Given the description of an element on the screen output the (x, y) to click on. 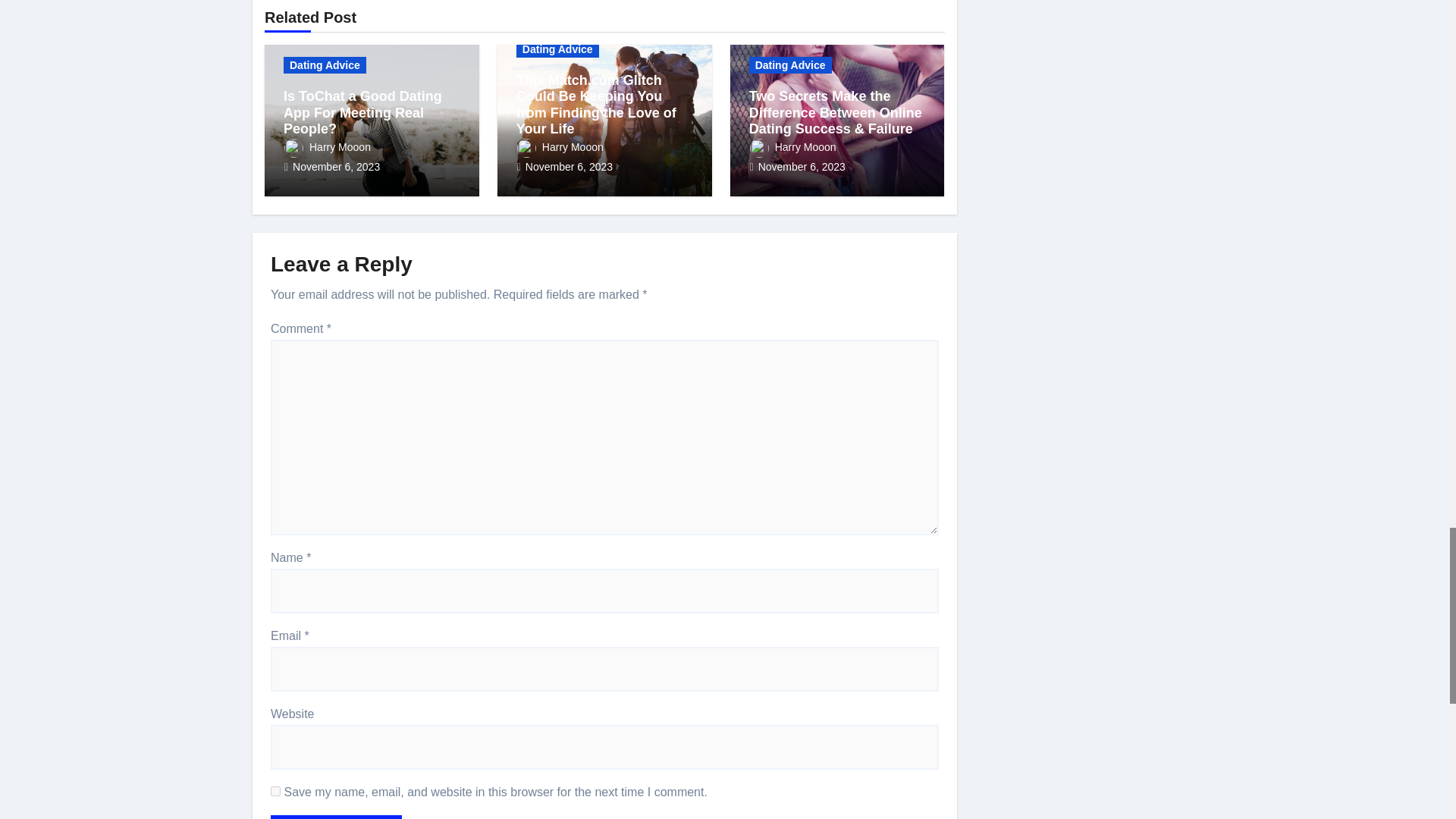
Harry Mooon (327, 146)
Is ToChat a Good Dating App For Meeting Real People? (362, 112)
yes (275, 791)
Dating Advice (324, 64)
November 6, 2023 (336, 166)
Post Comment (335, 816)
